Given the description of an element on the screen output the (x, y) to click on. 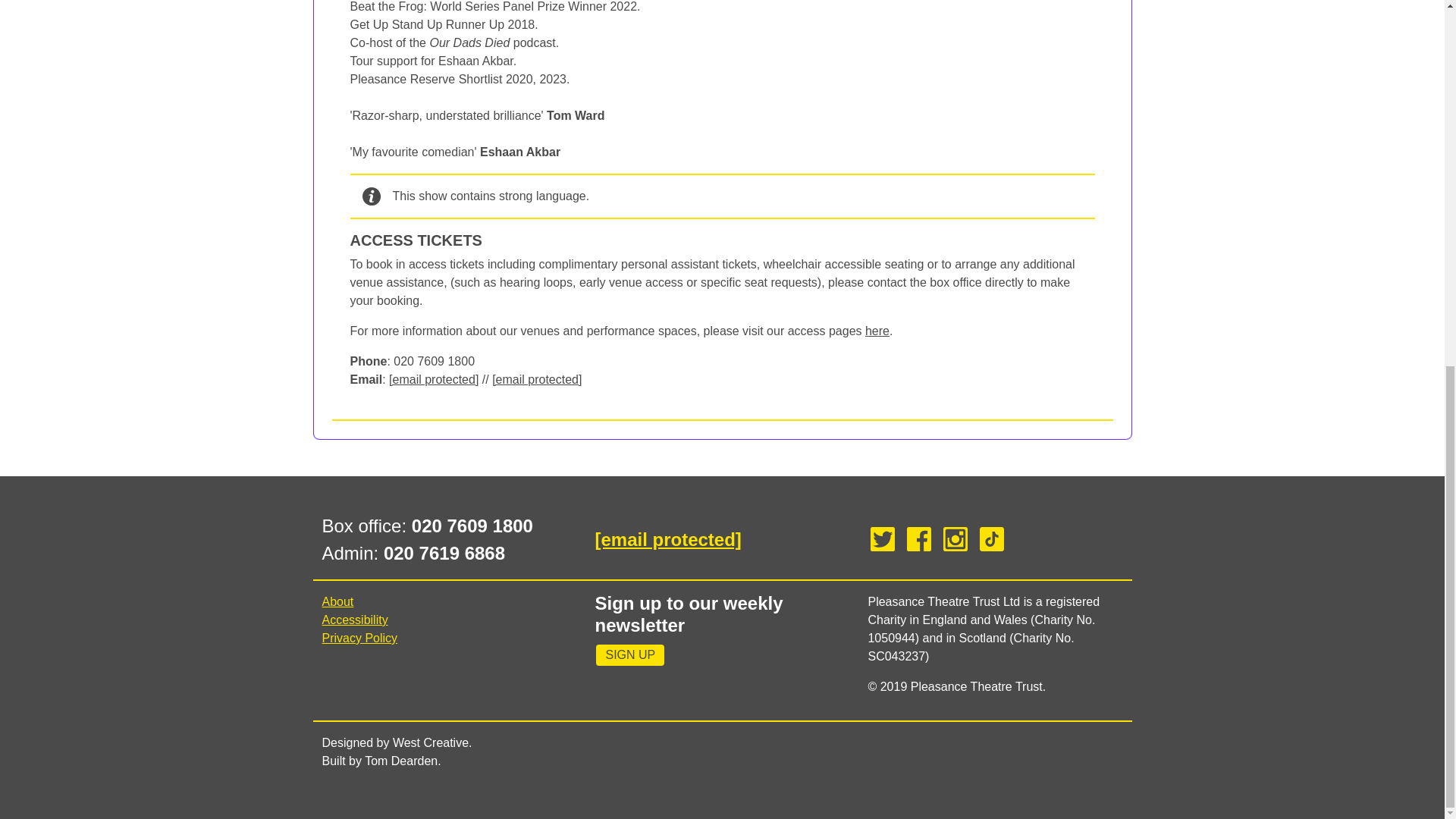
here (876, 330)
